Given the description of an element on the screen output the (x, y) to click on. 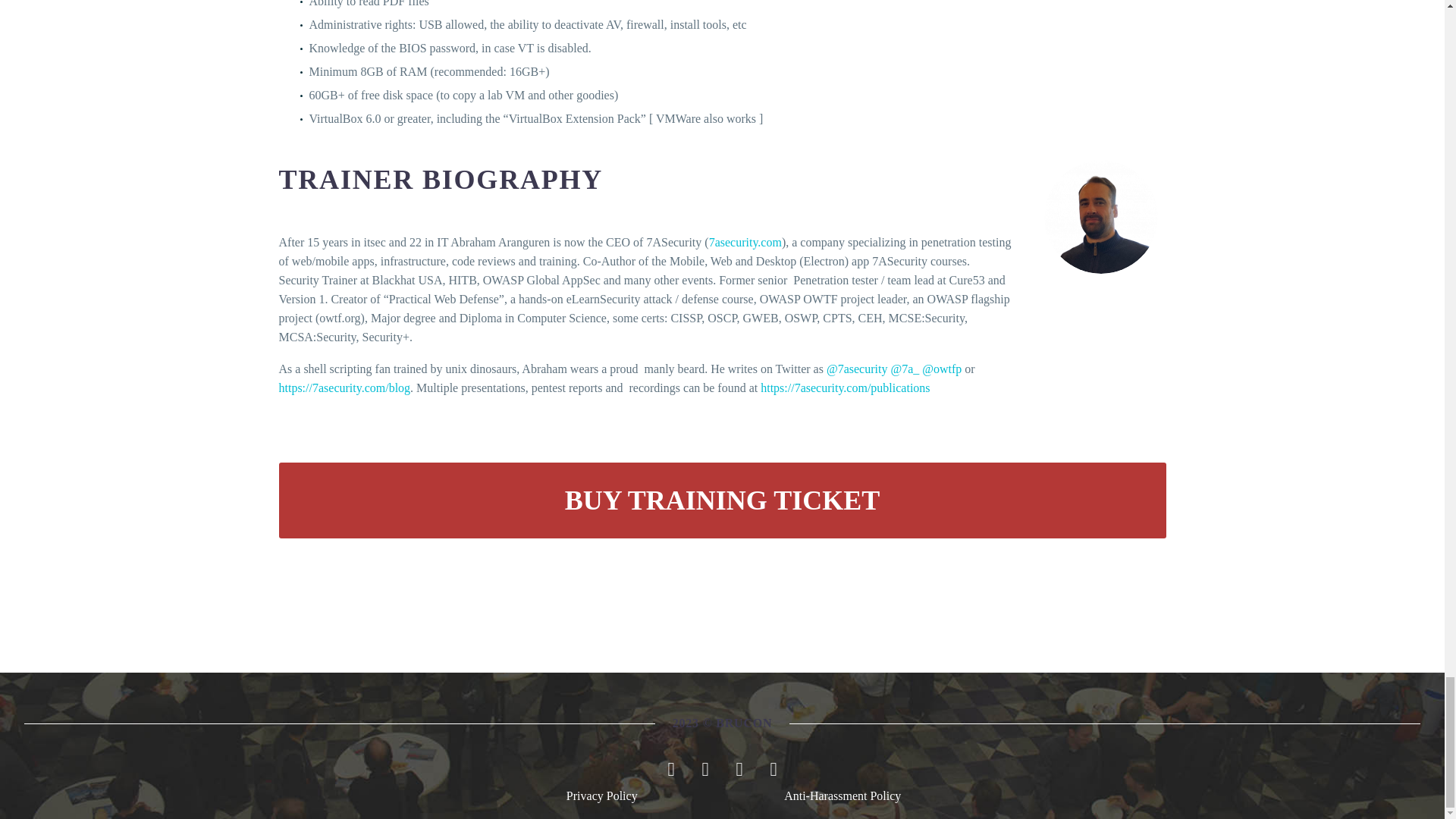
profile (1100, 216)
